Given the description of an element on the screen output the (x, y) to click on. 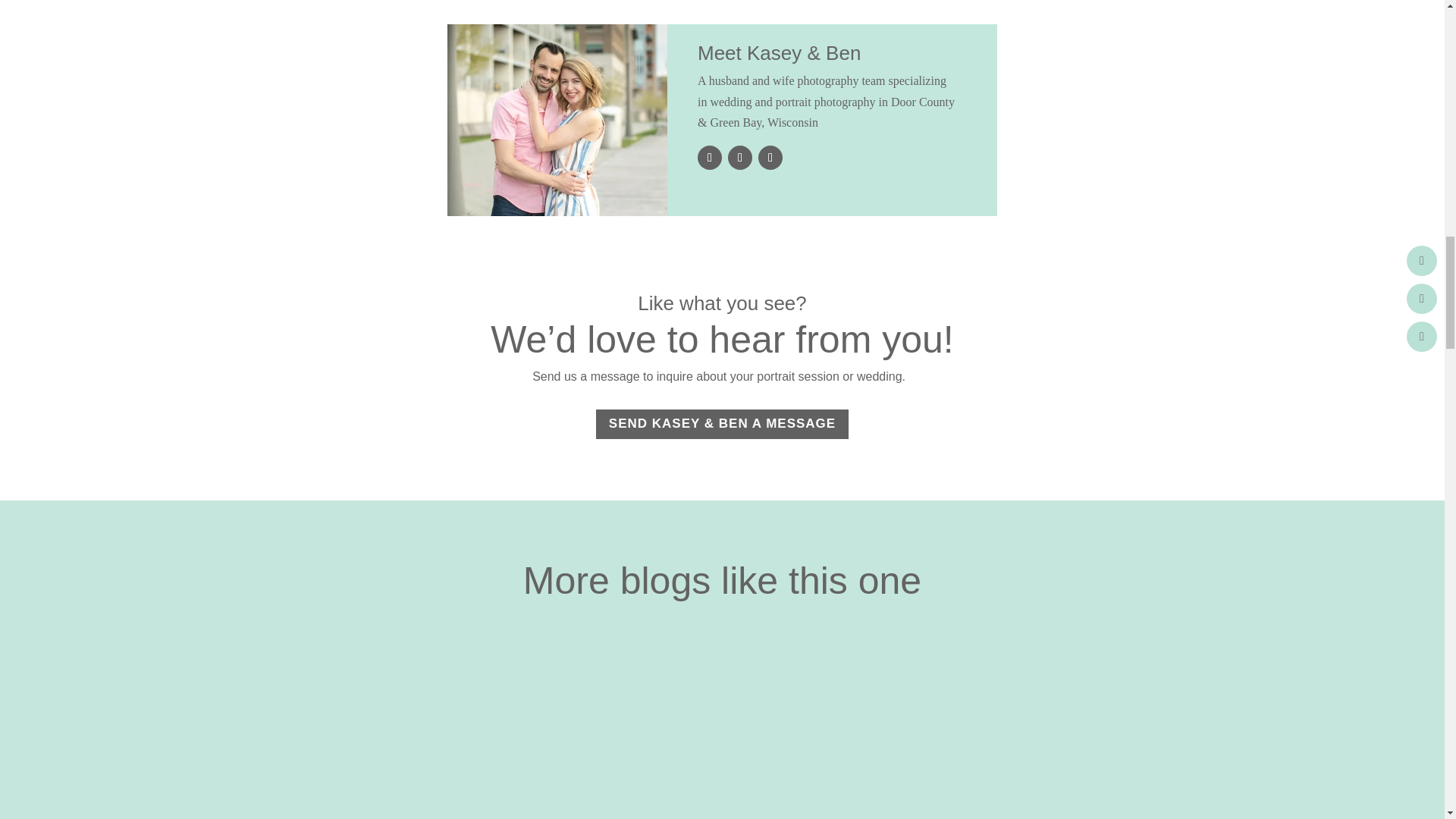
Follow on Instagram (740, 157)
Contact Us (556, 119)
Follow on Pinterest (770, 157)
Follow on Facebook (709, 157)
